Given the description of an element on the screen output the (x, y) to click on. 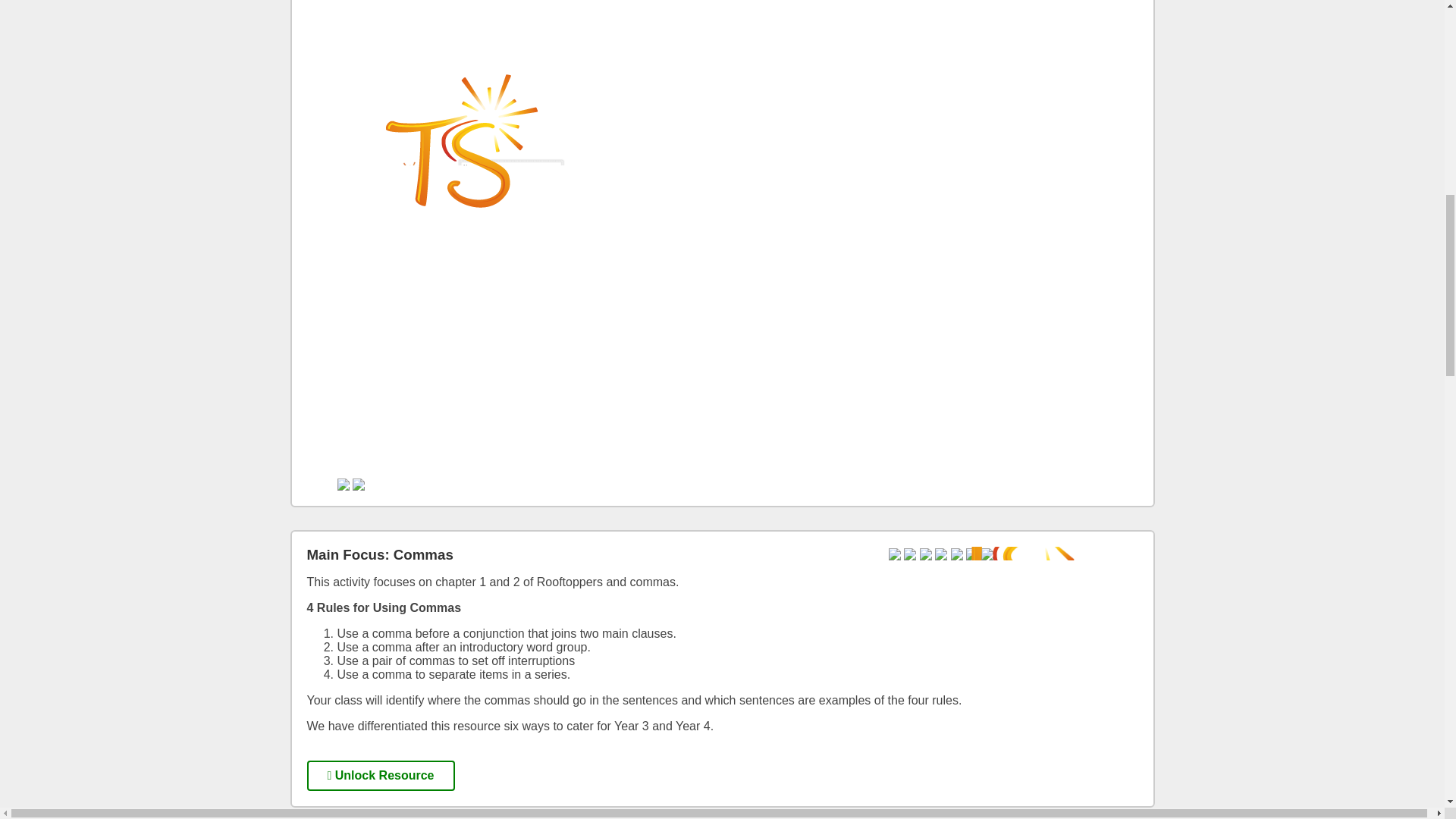
Unlock Resource (379, 775)
